Given the description of an element on the screen output the (x, y) to click on. 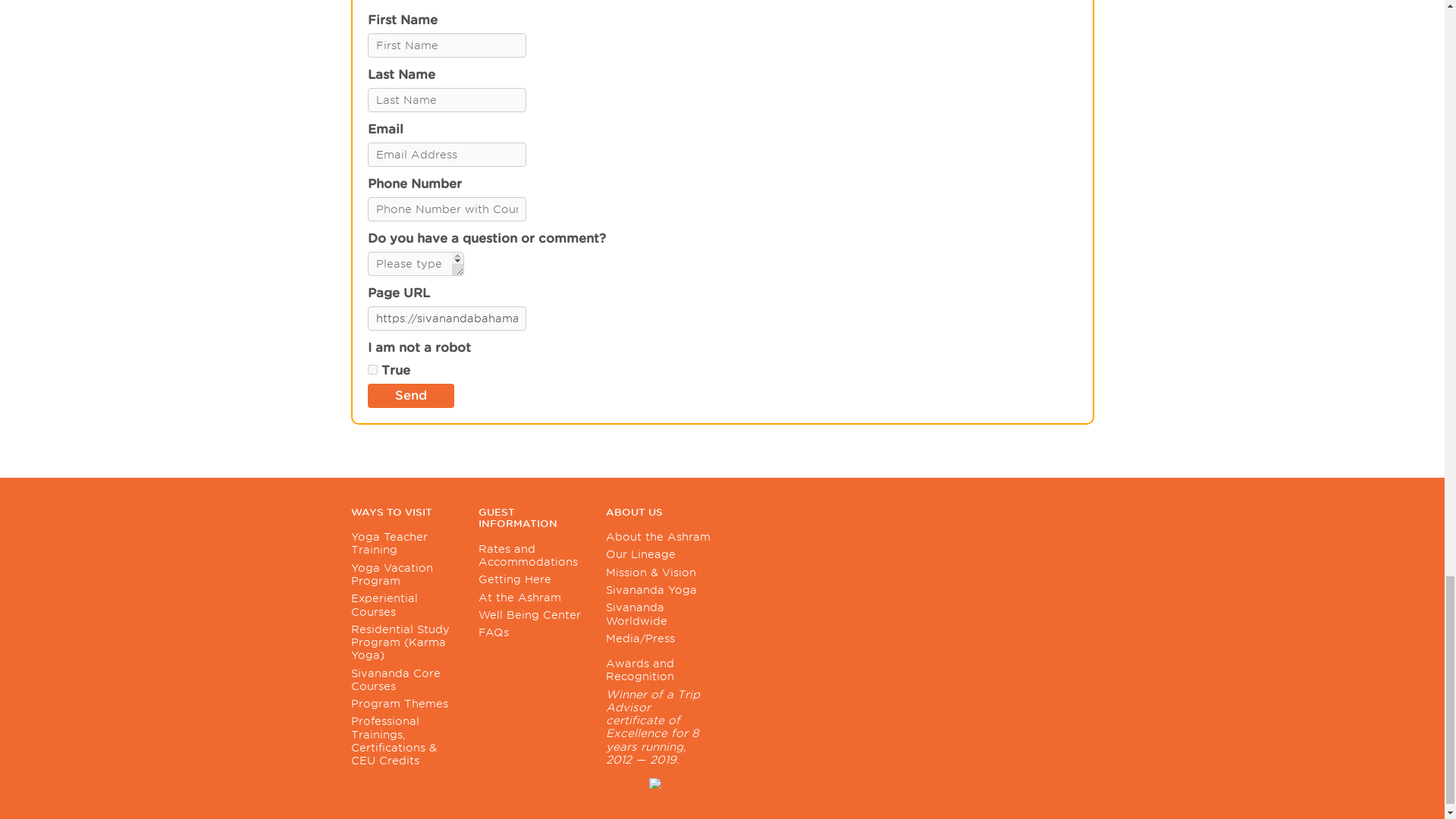
True (371, 369)
